Given the description of an element on the screen output the (x, y) to click on. 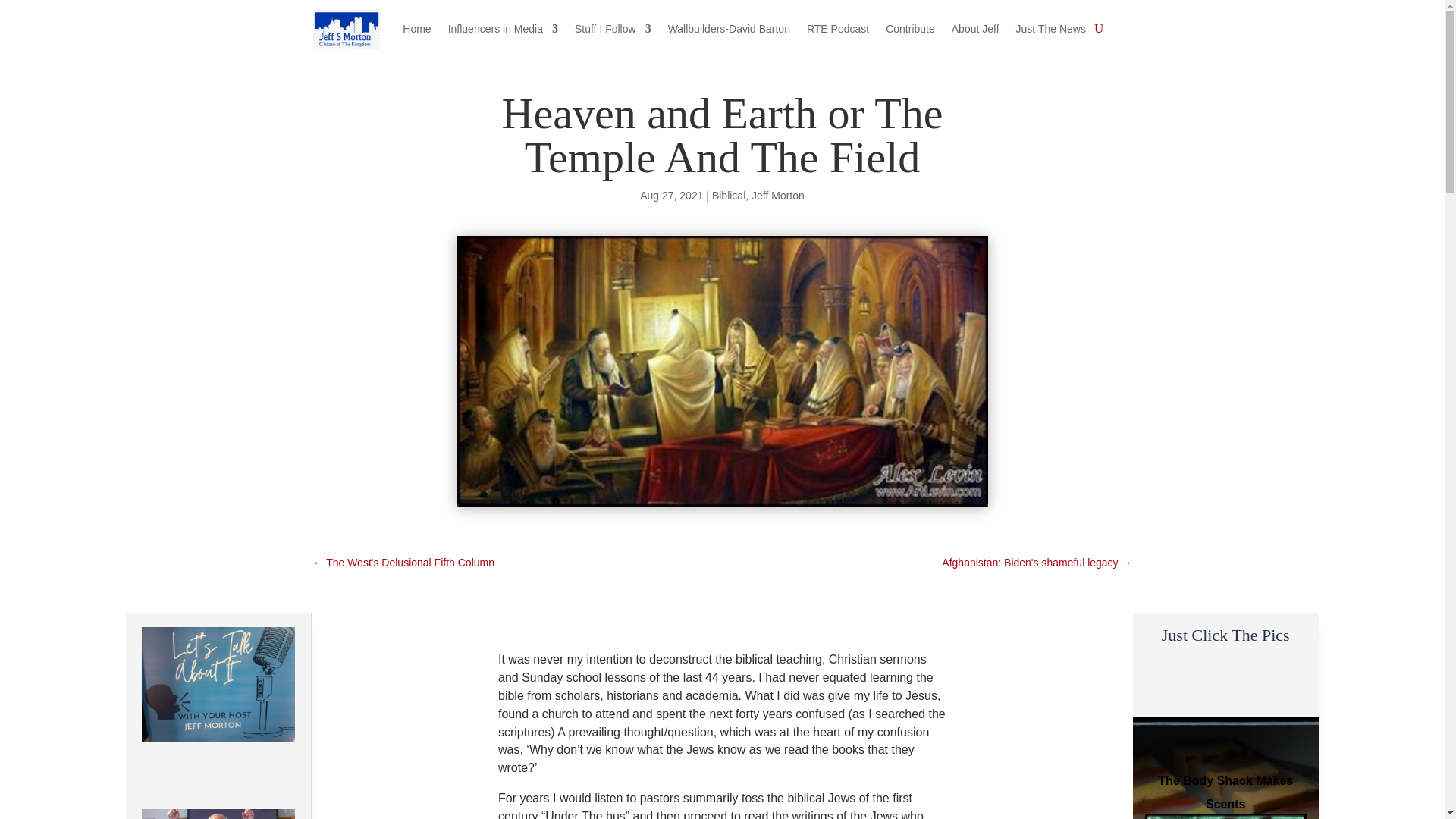
Influencers in Media (502, 28)
Stuff I Follow (612, 28)
Just The News (1051, 28)
Wallbuilders-David Barton (729, 28)
RTE Podcast (837, 28)
